Given the description of an element on the screen output the (x, y) to click on. 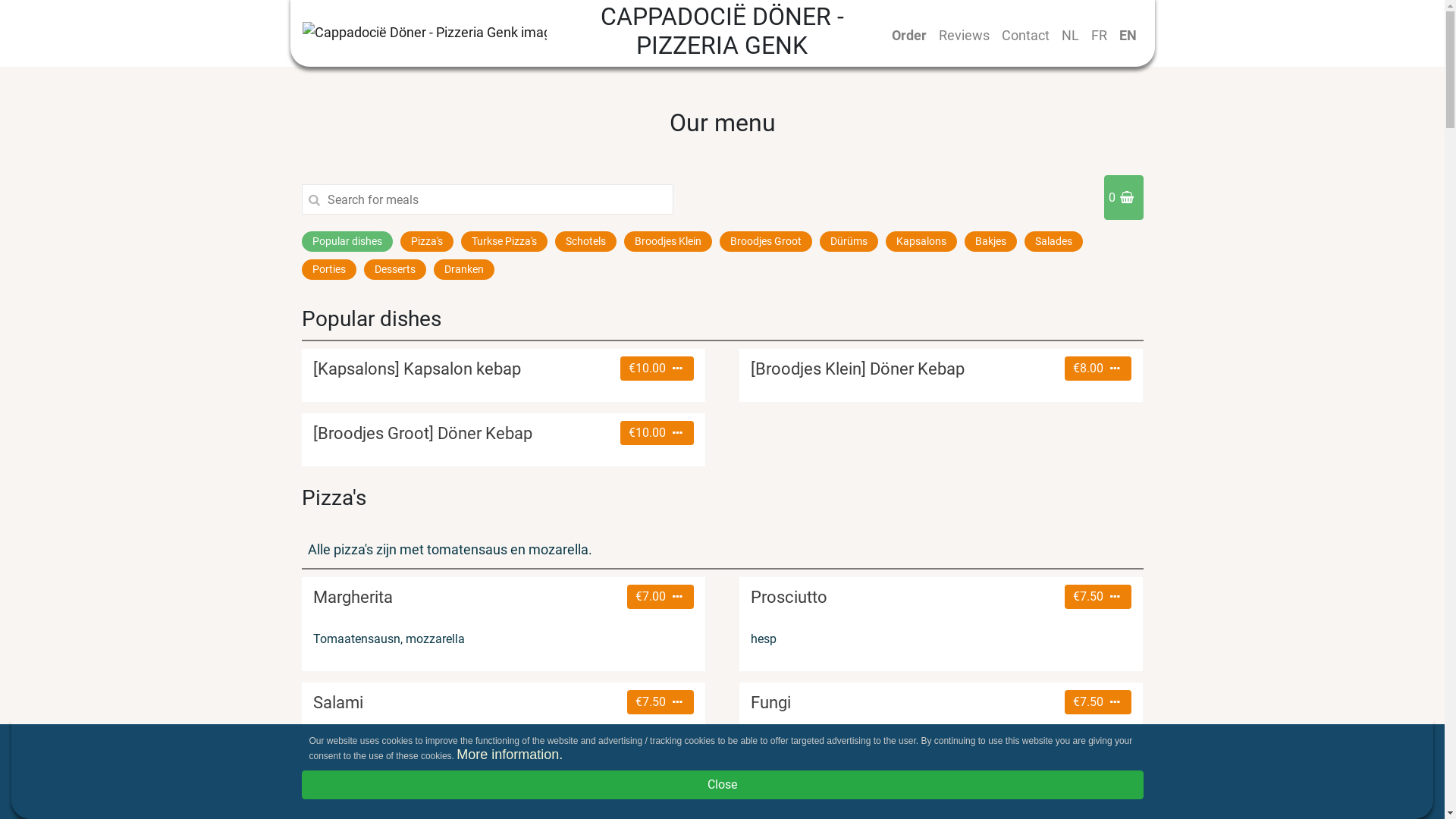
Pizza's Element type: text (426, 241)
Contact Element type: text (1024, 34)
EN Element type: text (1127, 34)
Reviews Element type: text (963, 34)
NL Element type: text (1070, 34)
Kapsalons Element type: text (921, 241)
Salades Element type: text (1052, 241)
0 Element type: text (1123, 197)
More information. Element type: text (509, 754)
Order Element type: text (908, 34)
Close Element type: text (722, 784)
Schotels Element type: text (585, 241)
Turkse Pizza's Element type: text (504, 241)
Bakjes Element type: text (990, 241)
Popular dishes Element type: text (346, 241)
Broodjes Klein Element type: text (667, 241)
Broodjes Groot Element type: text (764, 241)
Dranken Element type: text (463, 269)
FR Element type: text (1098, 34)
Desserts Element type: text (395, 269)
Porties Element type: text (328, 269)
